Given the description of an element on the screen output the (x, y) to click on. 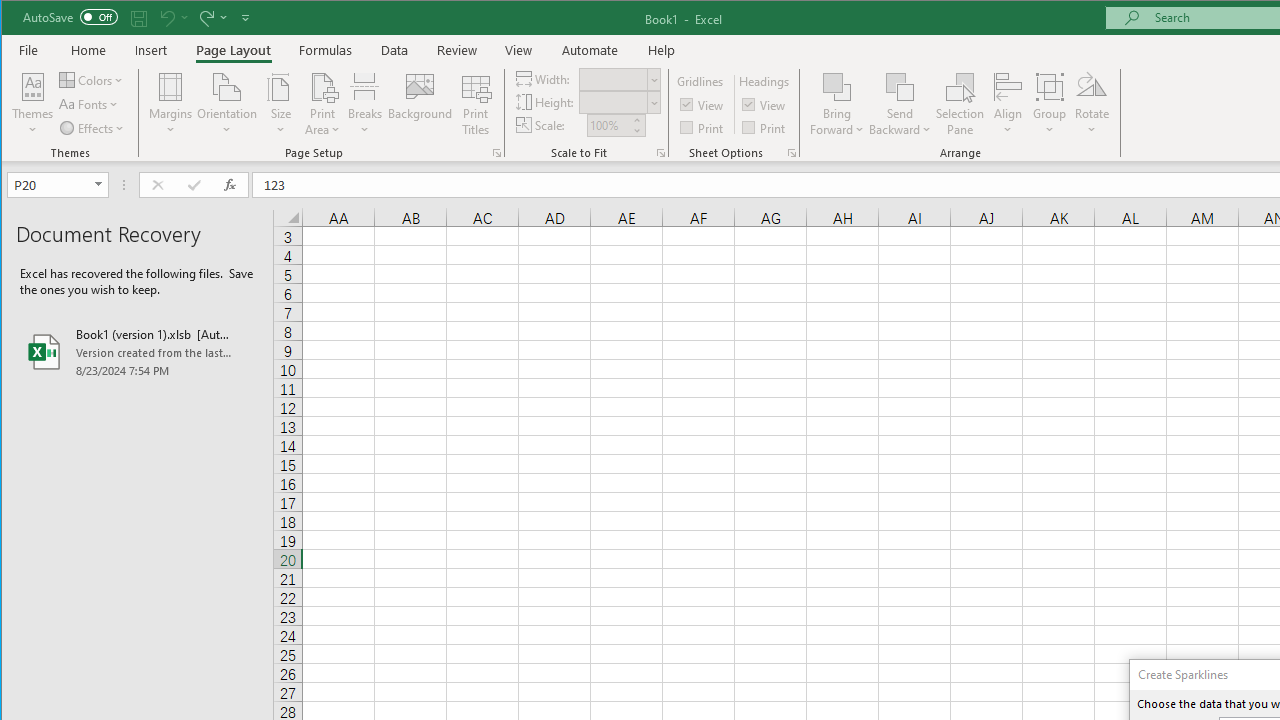
Themes (33, 104)
Fonts (90, 103)
Background... (420, 104)
Margins (170, 104)
Effects (93, 127)
Colors (93, 80)
Group (1050, 104)
